Given the description of an element on the screen output the (x, y) to click on. 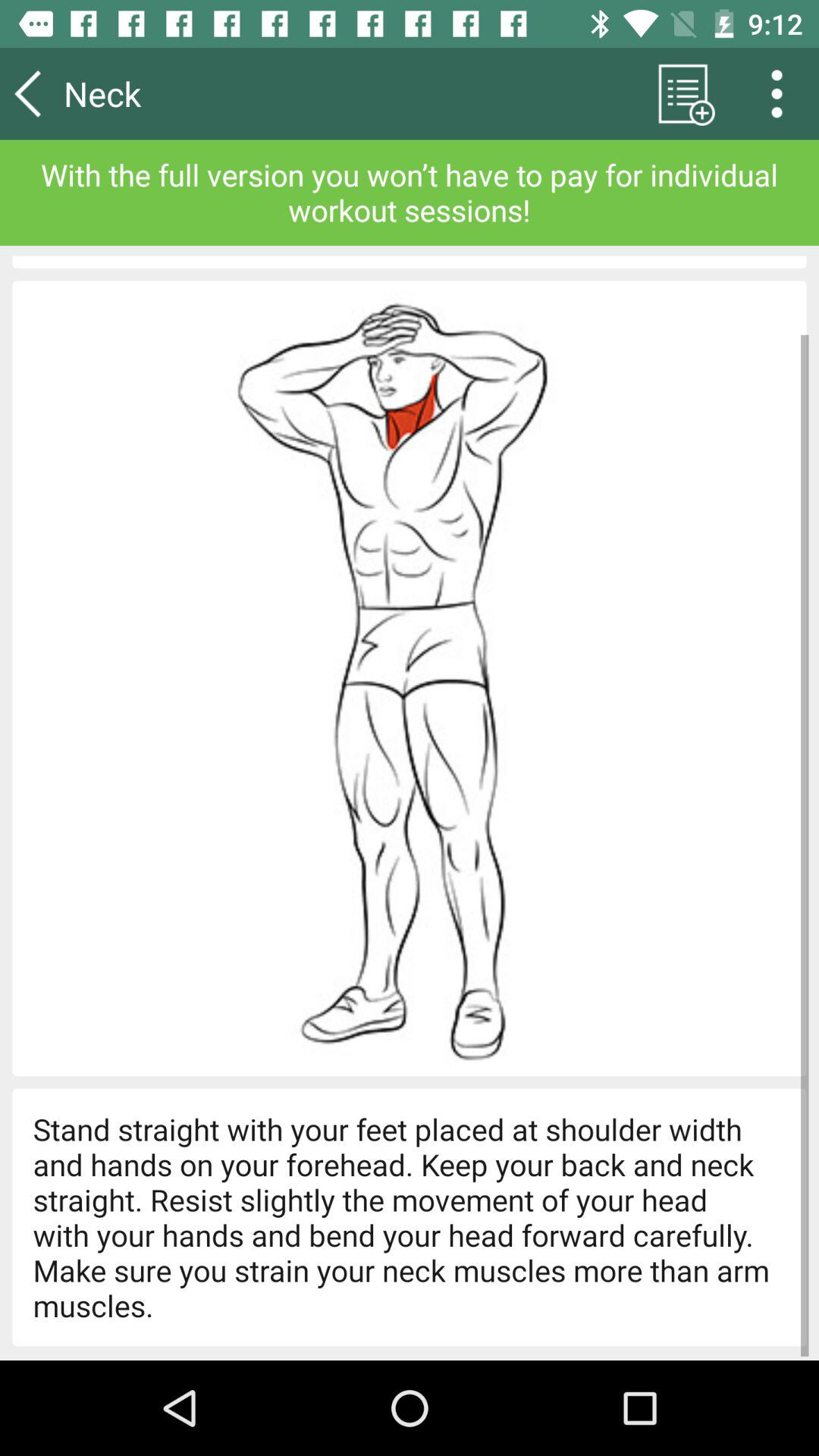
turn on app to the right of the neck item (682, 93)
